Given the description of an element on the screen output the (x, y) to click on. 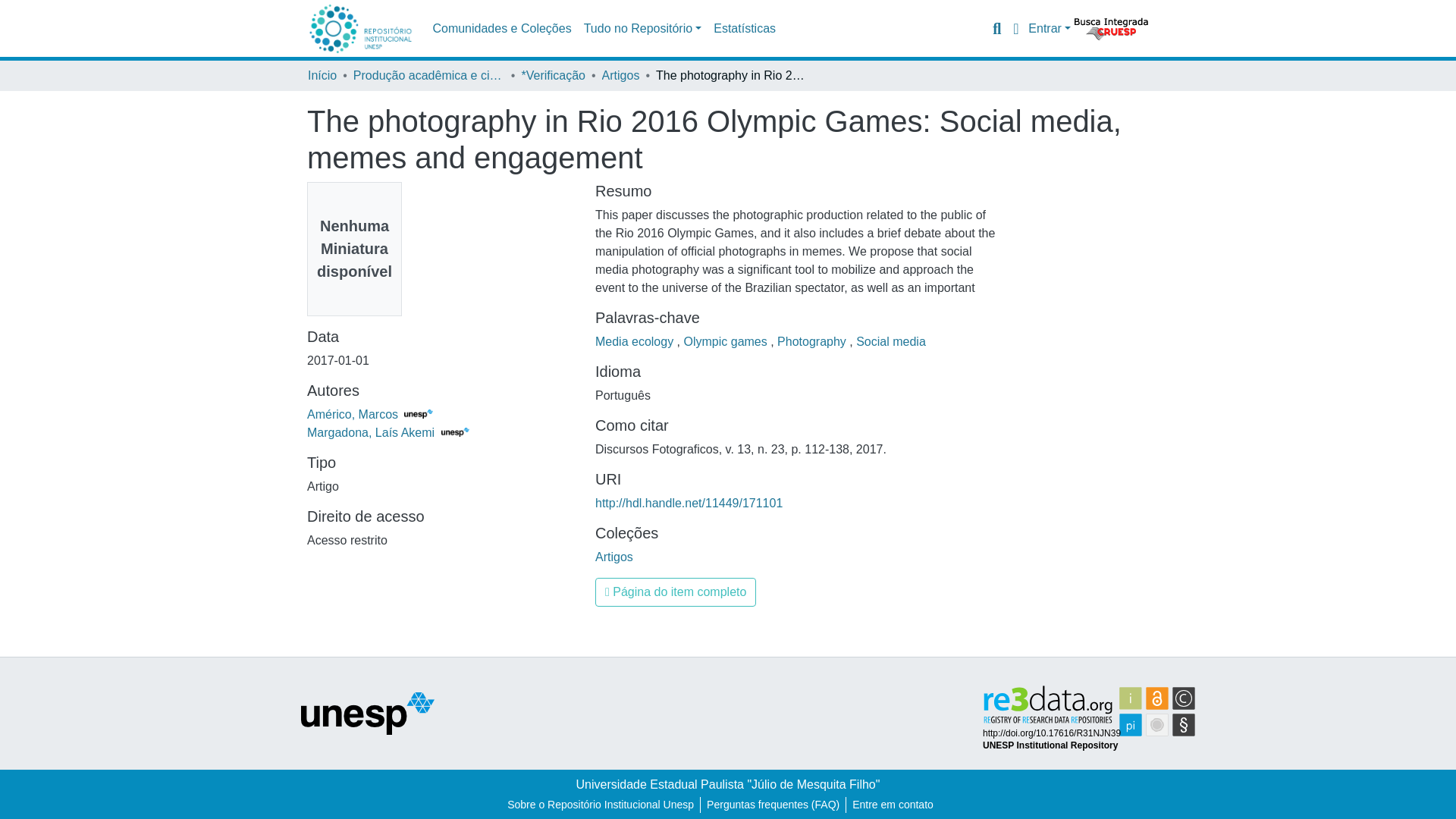
Media ecology (636, 341)
Entre em contato (892, 804)
Photography (812, 341)
Pesquisar (996, 28)
Social media (891, 341)
Artigos (614, 556)
Alternar idioma (1015, 28)
Entrar (1049, 28)
Artigos (621, 75)
Olympic games (727, 341)
